Given the description of an element on the screen output the (x, y) to click on. 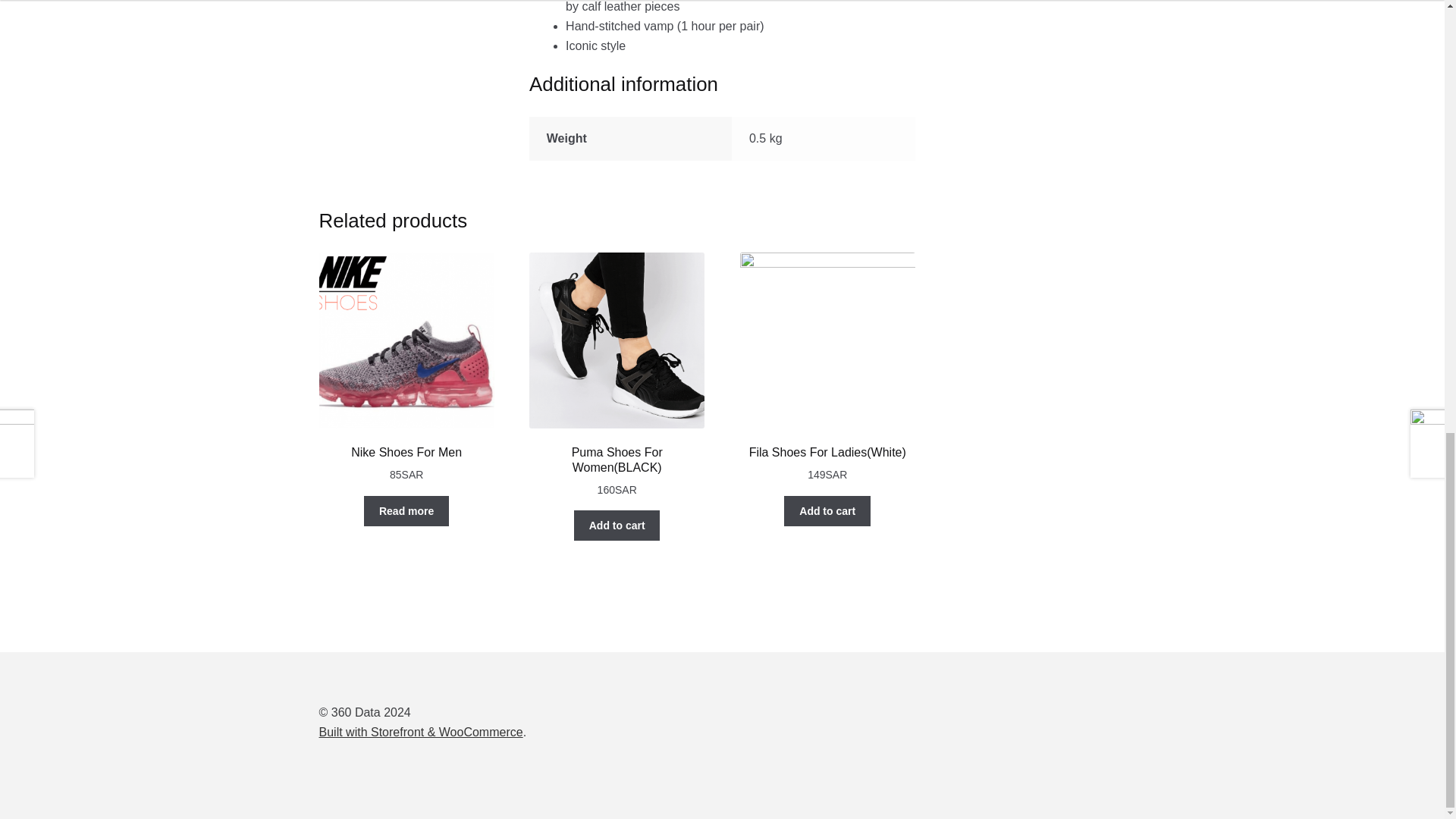
Add to cart (617, 525)
WooCommerce - The Best eCommerce Platform for WordPress (420, 731)
Read more (406, 511)
